Given the description of an element on the screen output the (x, y) to click on. 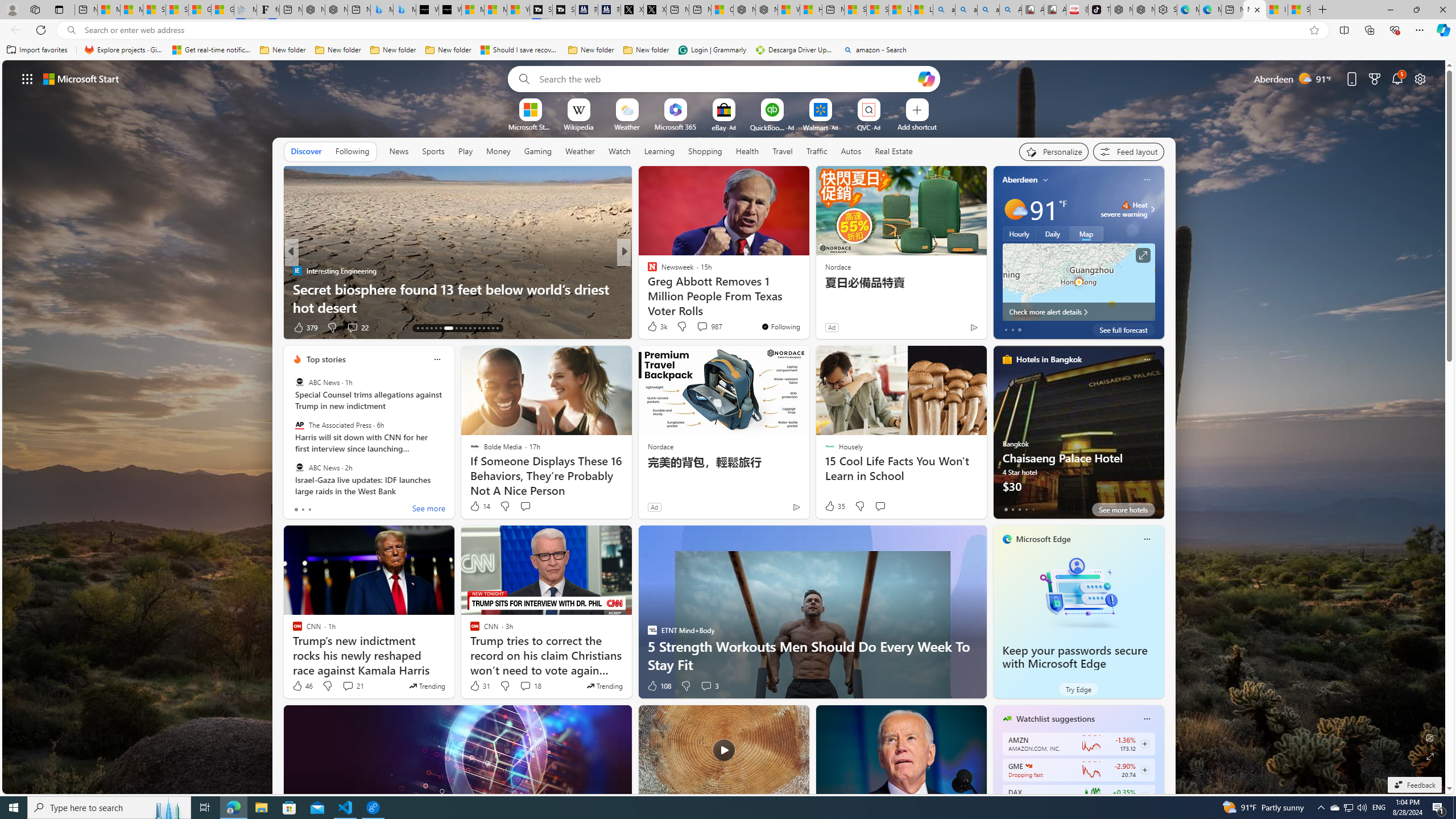
432 Like (654, 327)
Page settings (1420, 78)
View comments 52 Comment (698, 327)
Newsweek (647, 270)
AutomationID: tab-16 (431, 328)
Map (1085, 233)
Mostly sunny (1014, 208)
